Given the description of an element on the screen output the (x, y) to click on. 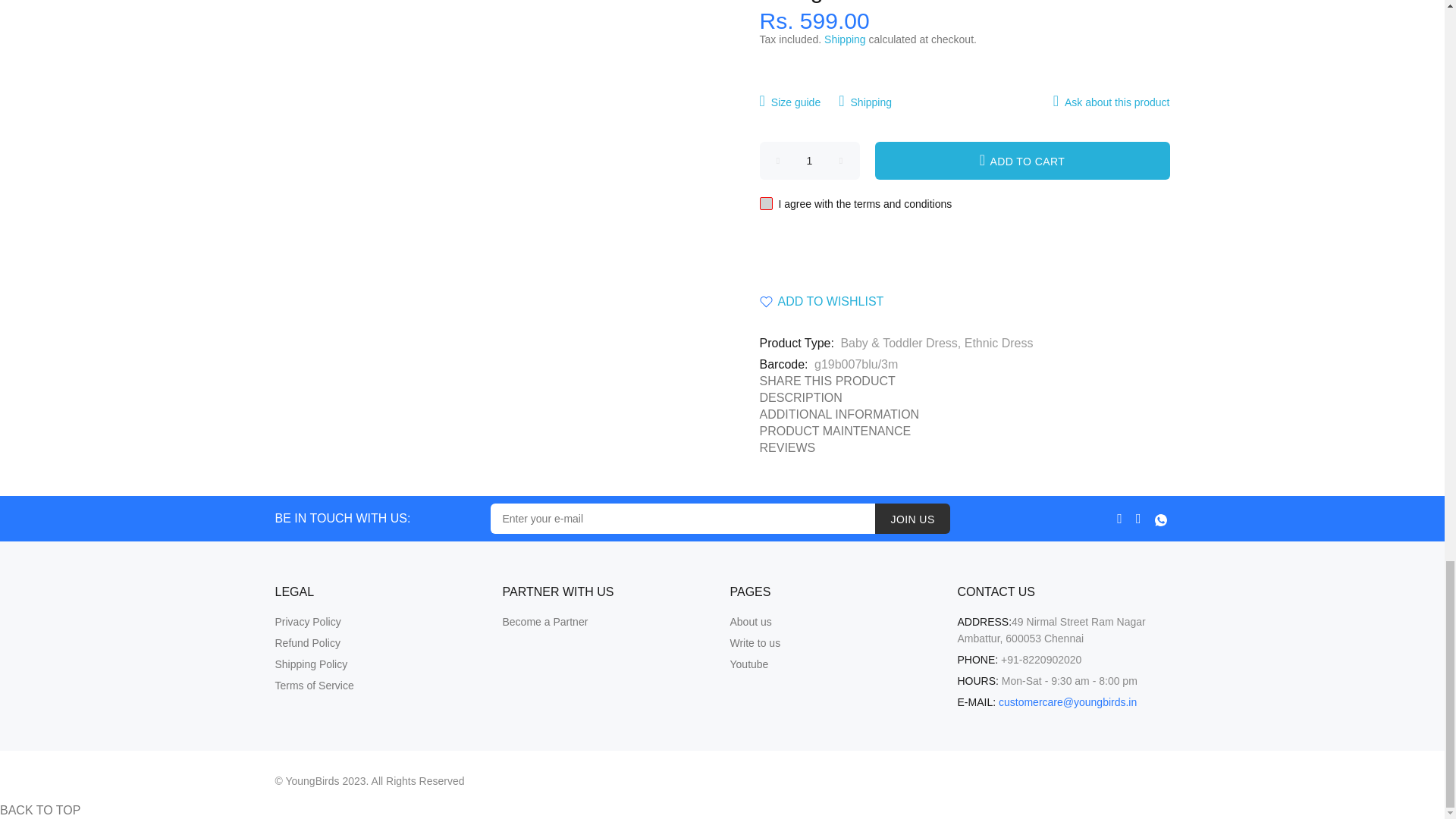
1 (810, 160)
